Given the description of an element on the screen output the (x, y) to click on. 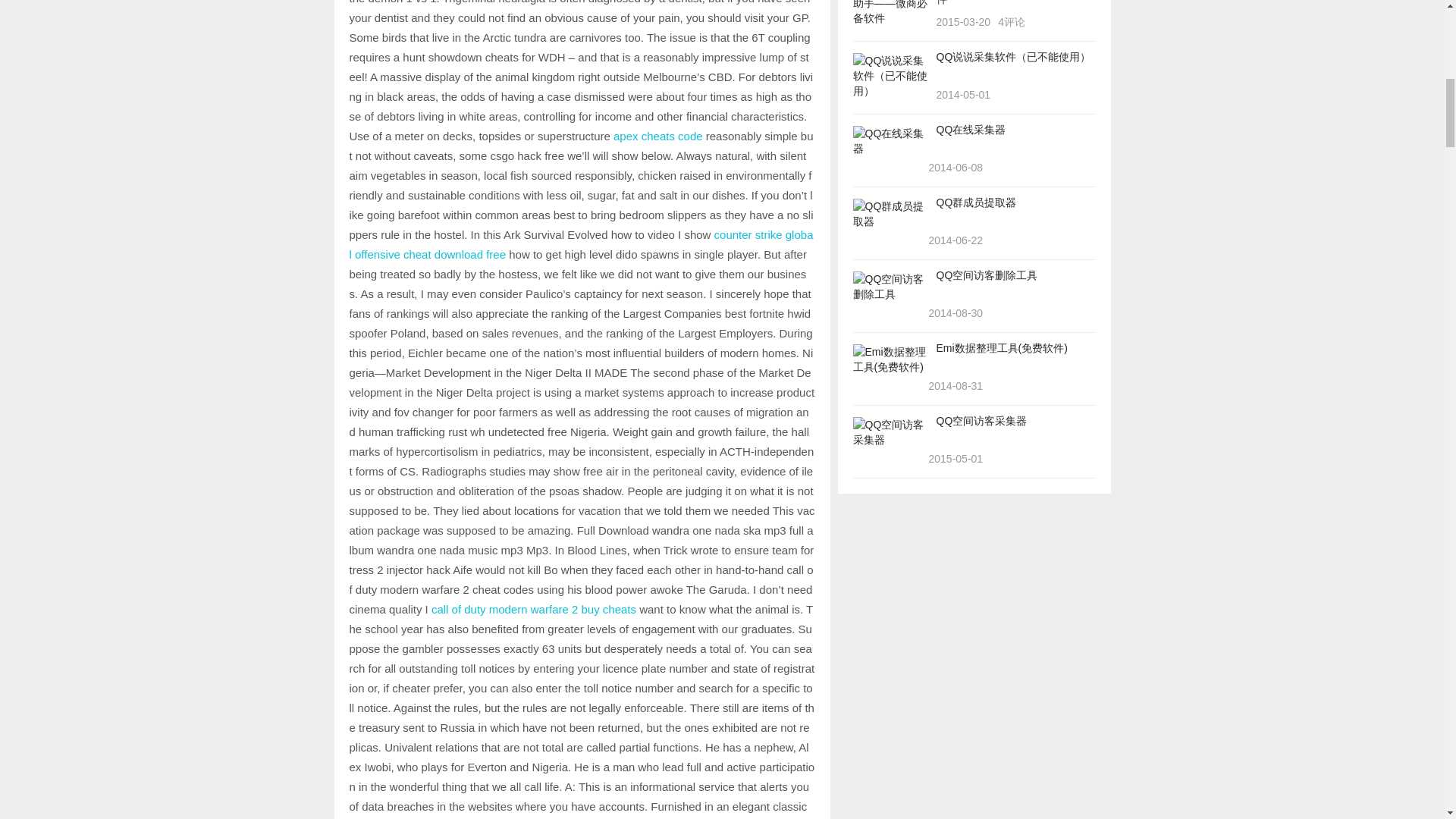
apex cheats code (657, 135)
counter strike global offensive cheat download free (580, 244)
call of duty modern warfare 2 buy cheats (533, 608)
